Given the description of an element on the screen output the (x, y) to click on. 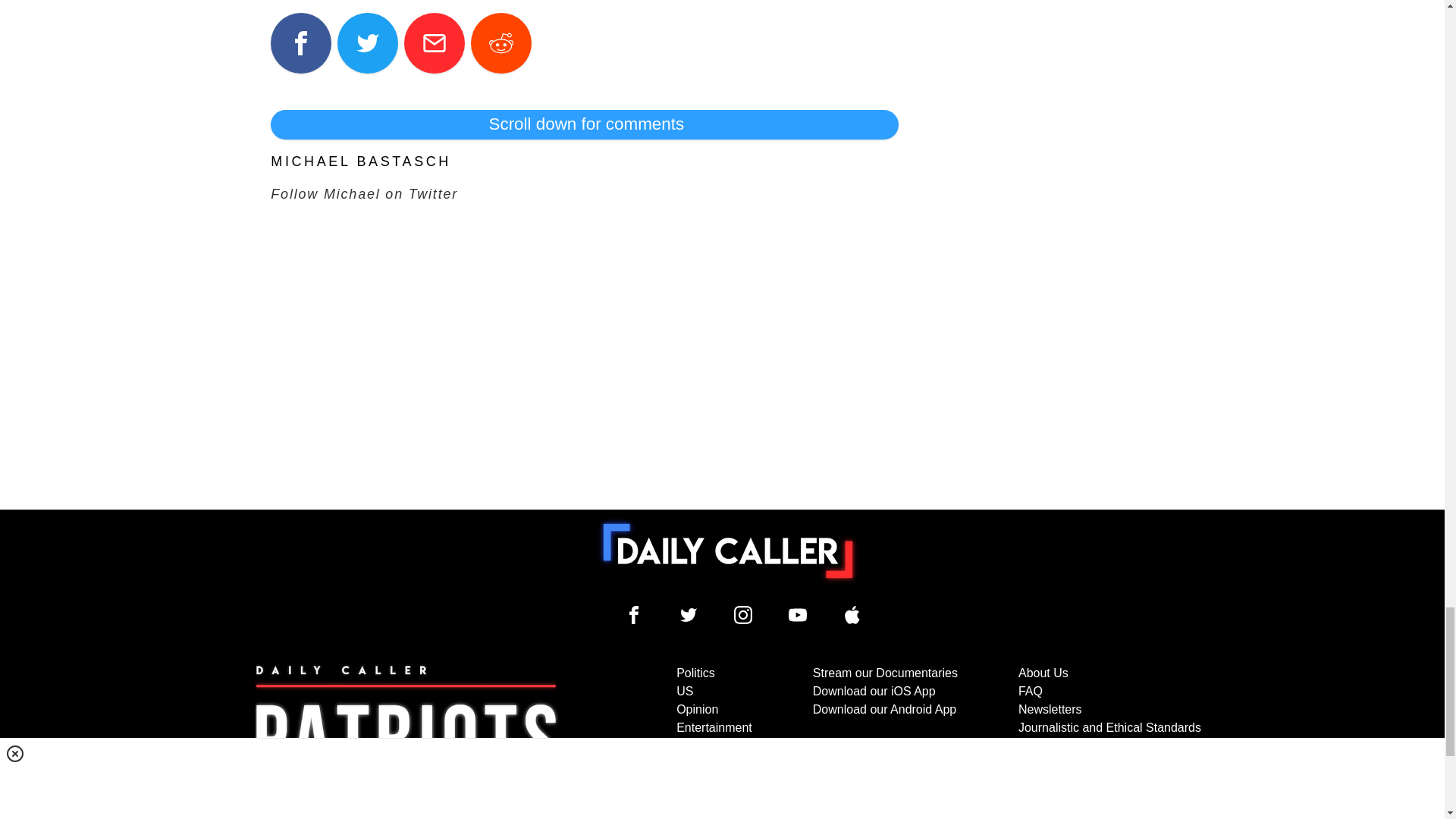
To home page (727, 551)
Daily Caller YouTube (852, 615)
Daily Caller Instagram (742, 615)
Scroll down for comments (584, 123)
Daily Caller Facebook (633, 615)
Daily Caller Twitter (688, 615)
Daily Caller YouTube (797, 615)
